Given the description of an element on the screen output the (x, y) to click on. 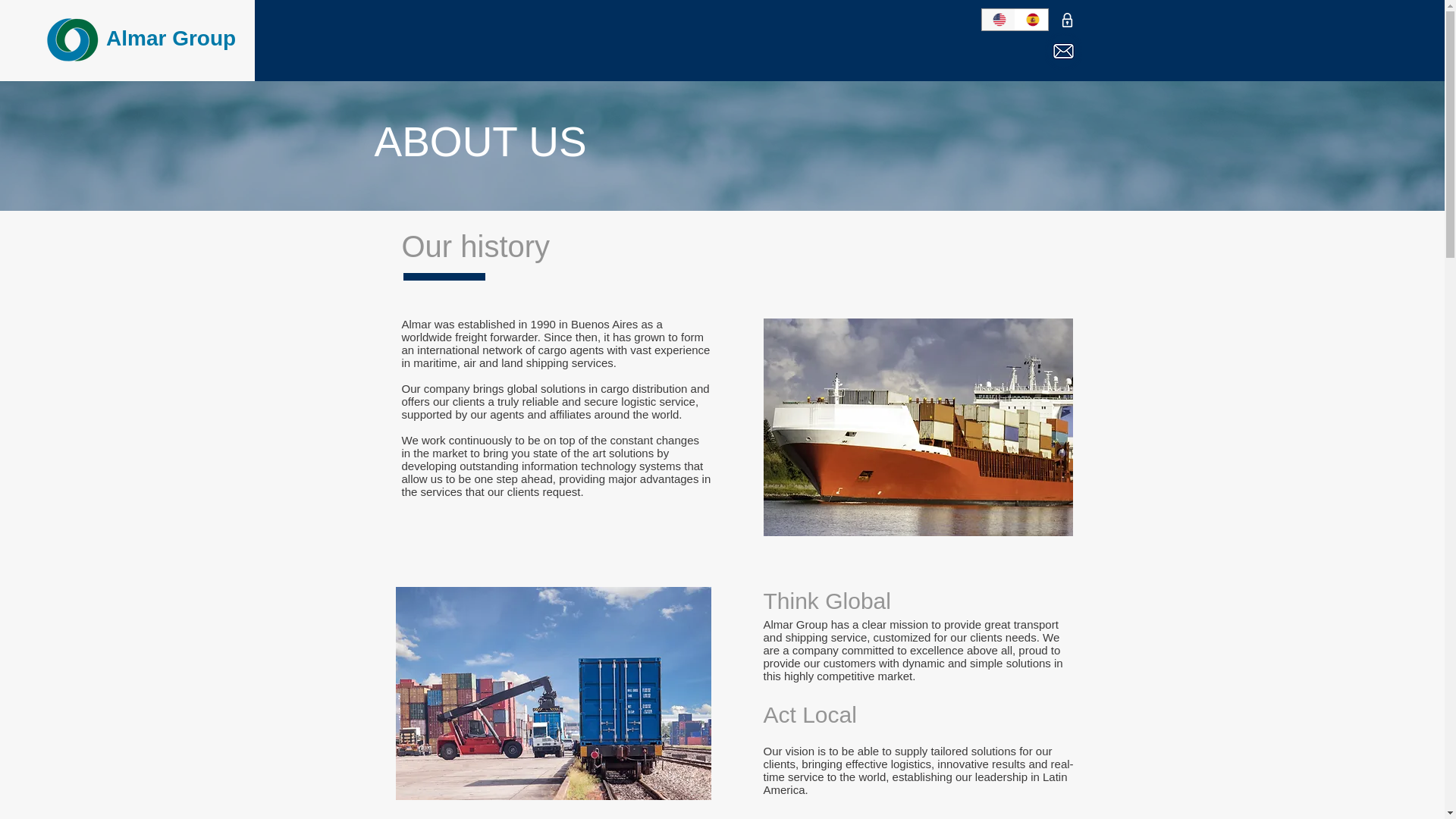
port and cargo shipping (916, 427)
logoALMAR-sin-fondo.png (72, 40)
Almar Group (170, 37)
